Given the description of an element on the screen output the (x, y) to click on. 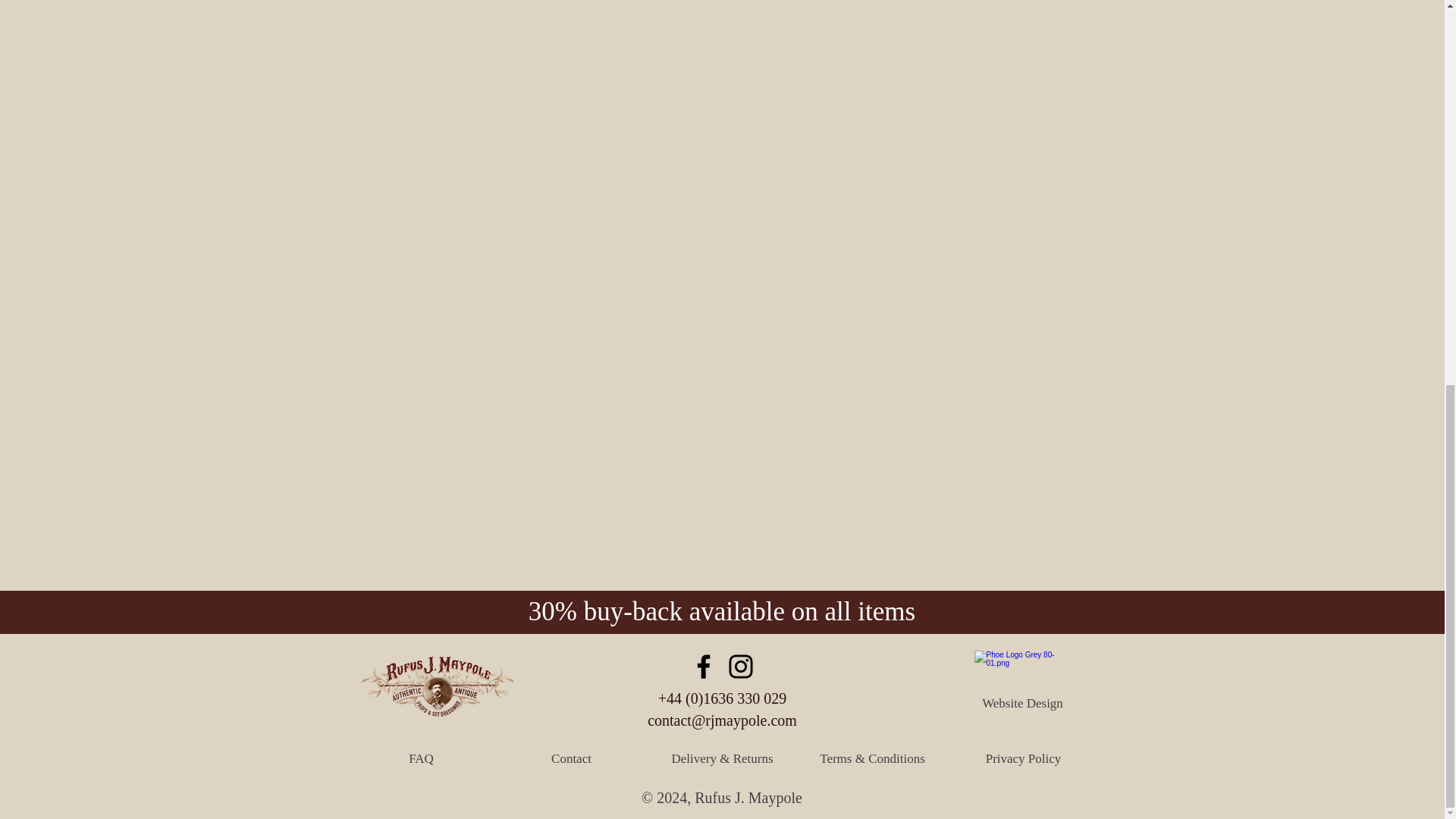
Privacy Policy (1023, 758)
Contact (570, 758)
FAQ (420, 758)
